Given the description of an element on the screen output the (x, y) to click on. 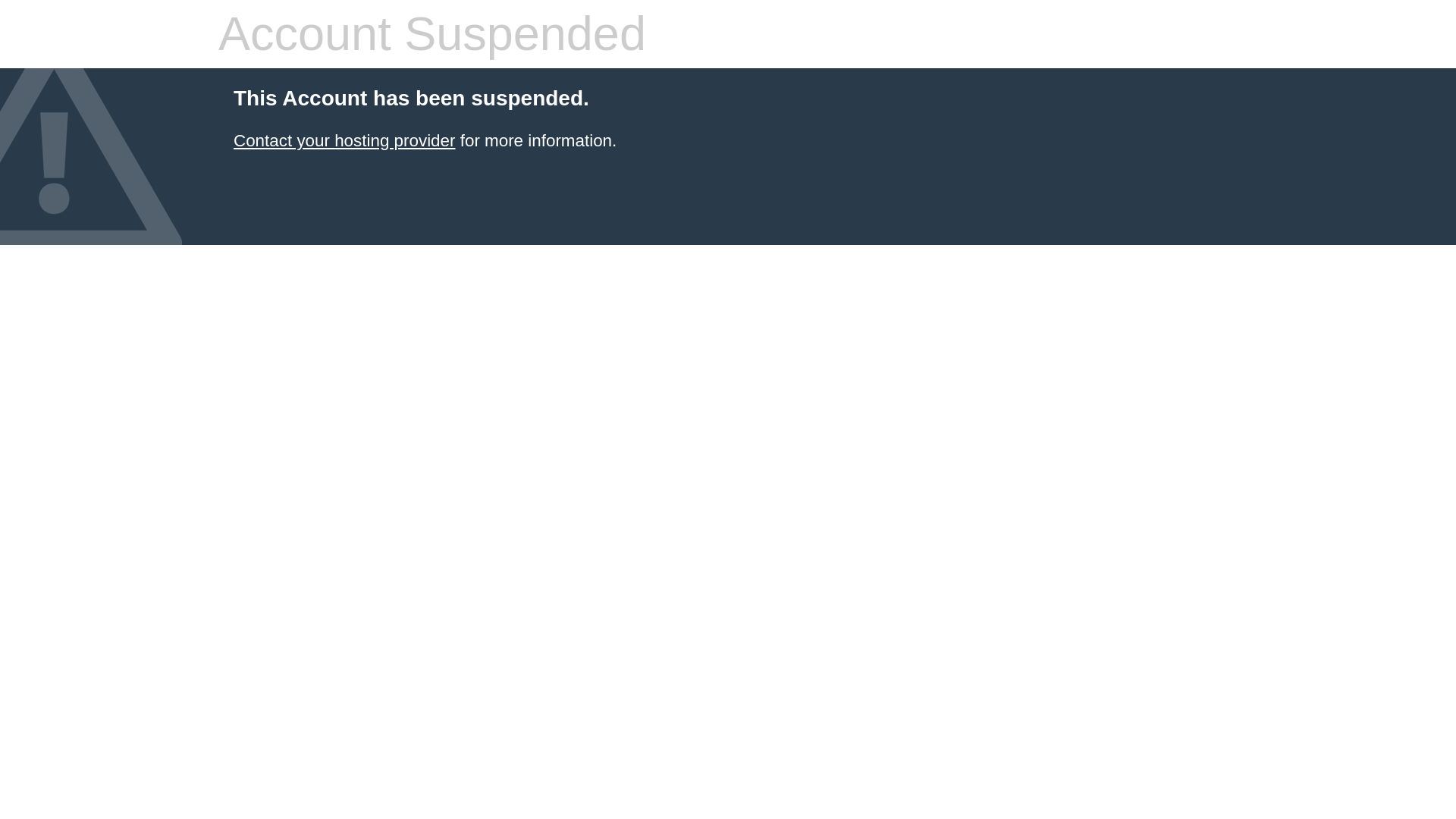
GreenGeeks LLC (343, 140)
Contact your hosting provider (343, 140)
